Given the description of an element on the screen output the (x, y) to click on. 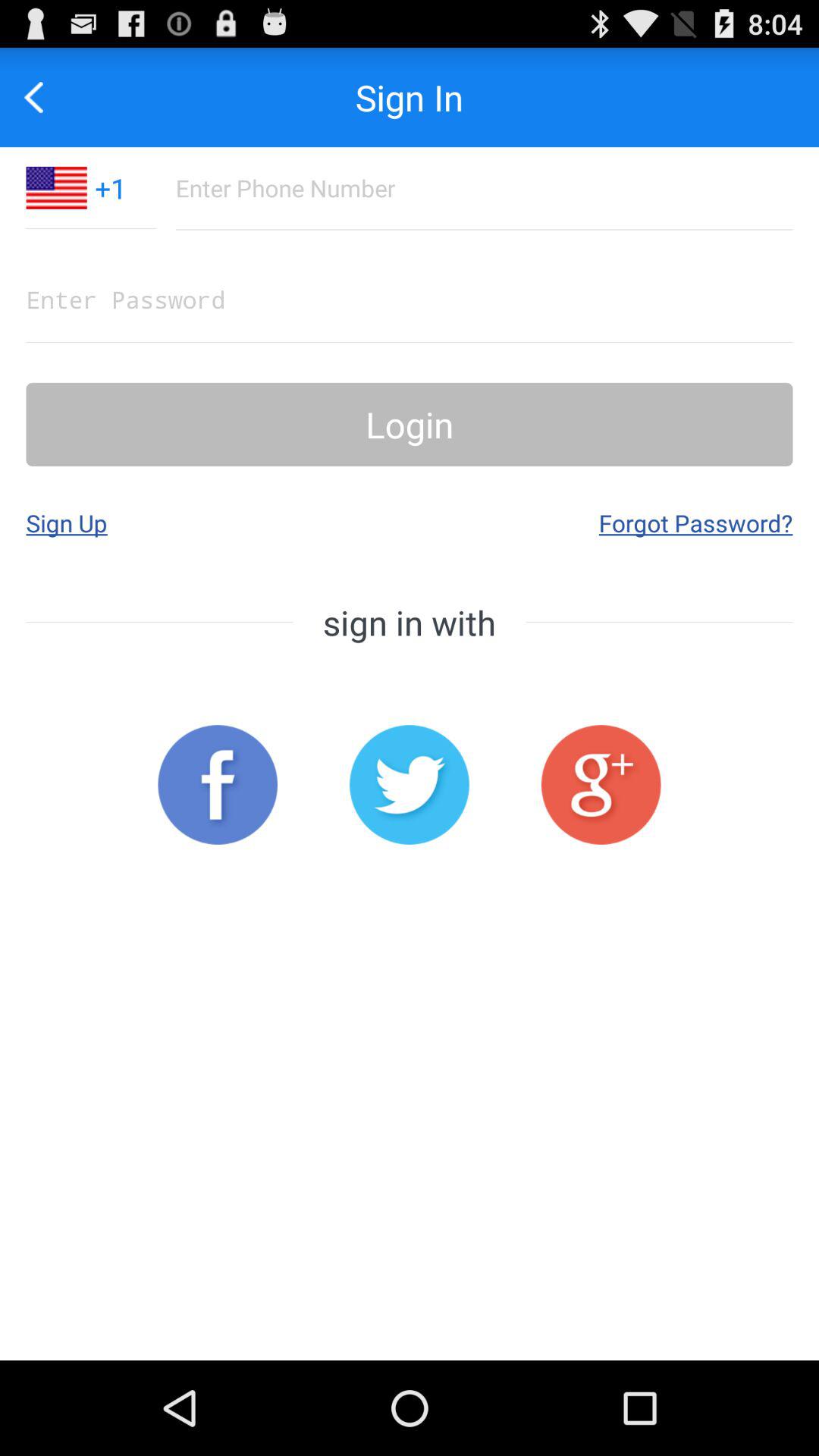
choose the sign up item (66, 522)
